Given the description of an element on the screen output the (x, y) to click on. 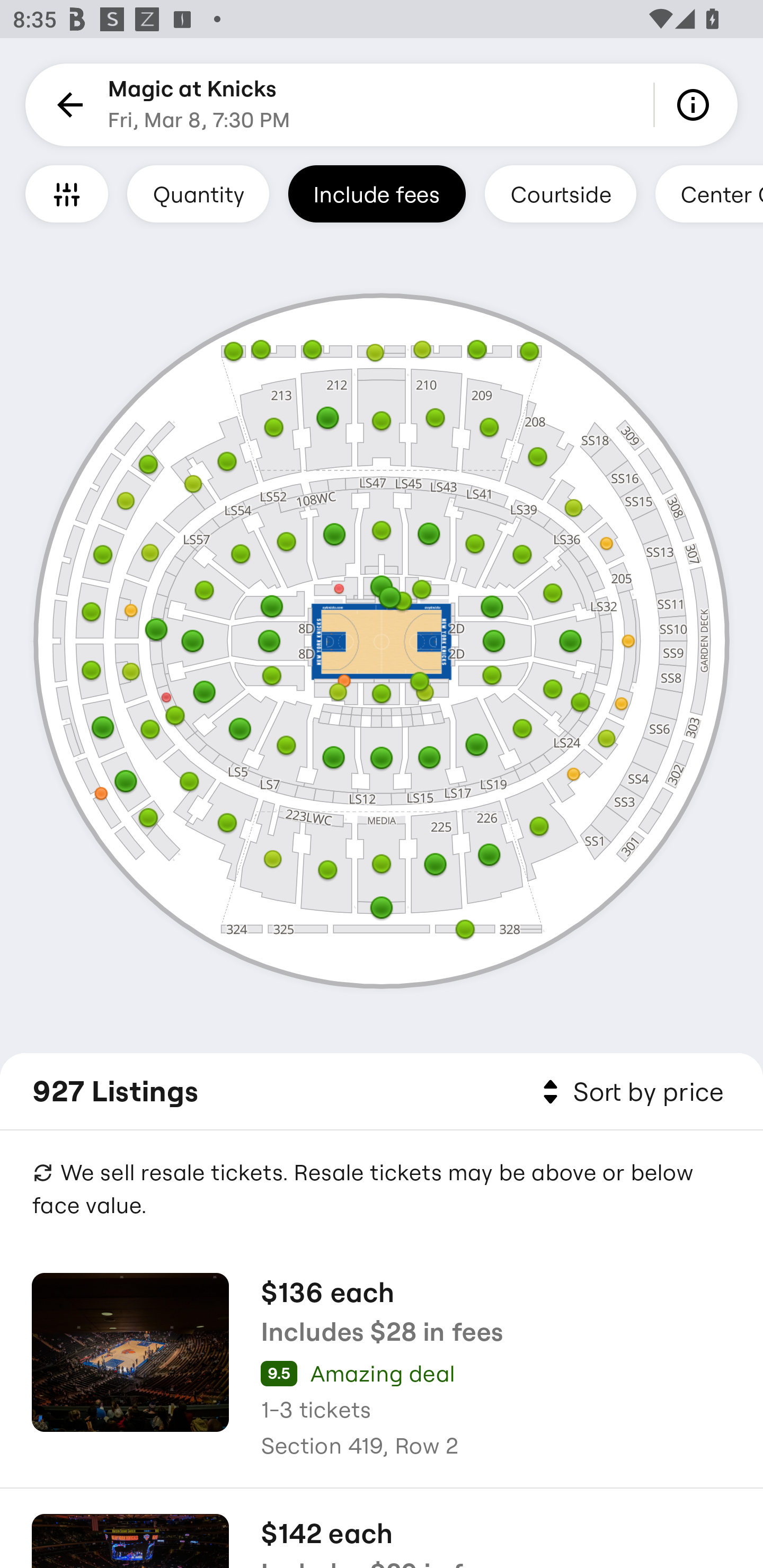
Back (66, 104)
Magic at Knicks Fri, Mar 8, 7:30 PM (198, 104)
Info (695, 104)
Filters and Accessible Seating (66, 193)
Quantity (198, 193)
Include fees (376, 193)
Courtside (560, 193)
Sort by price (629, 1091)
